Given the description of an element on the screen output the (x, y) to click on. 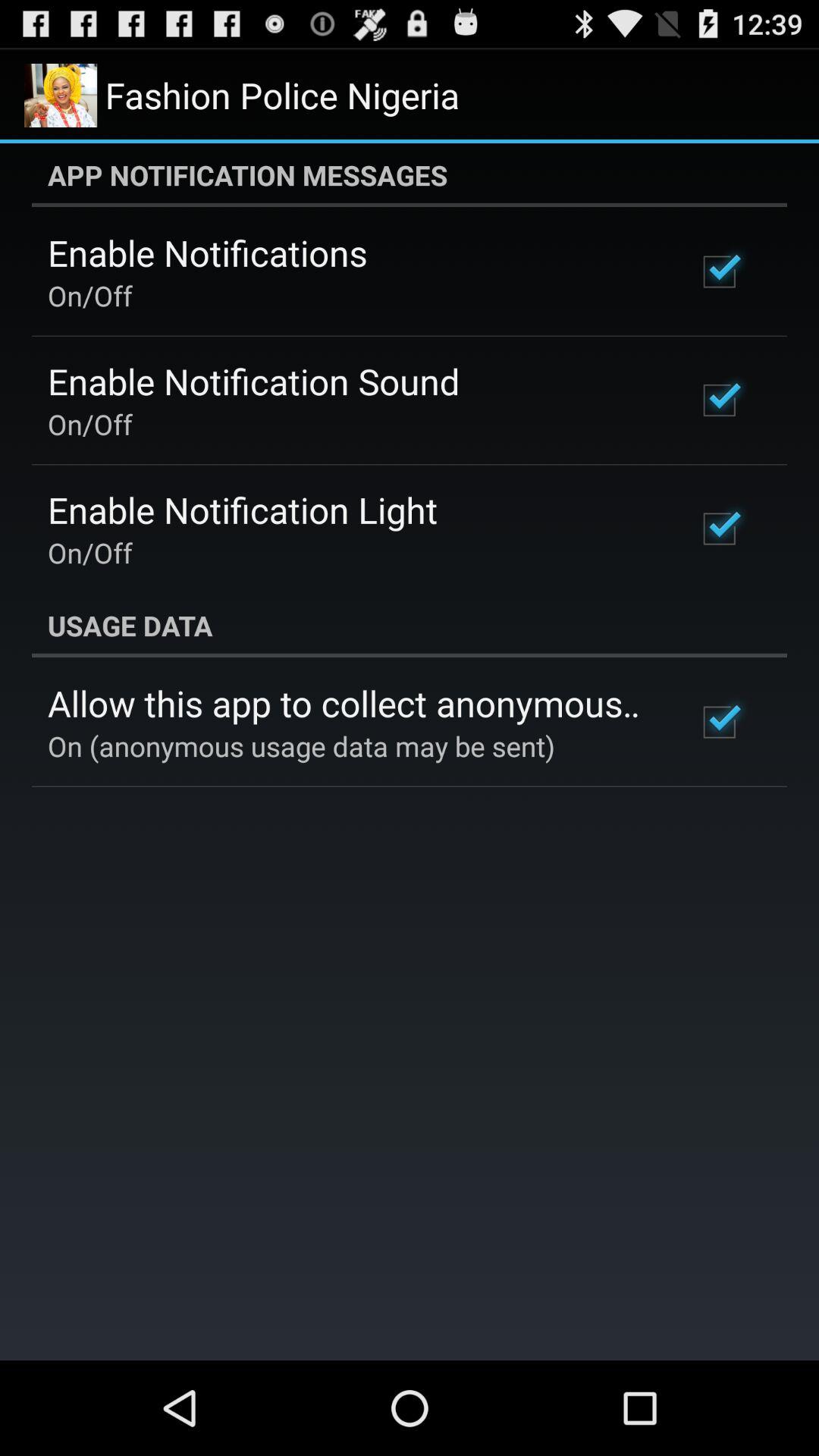
click the icon above the enable notifications (409, 175)
